Given the description of an element on the screen output the (x, y) to click on. 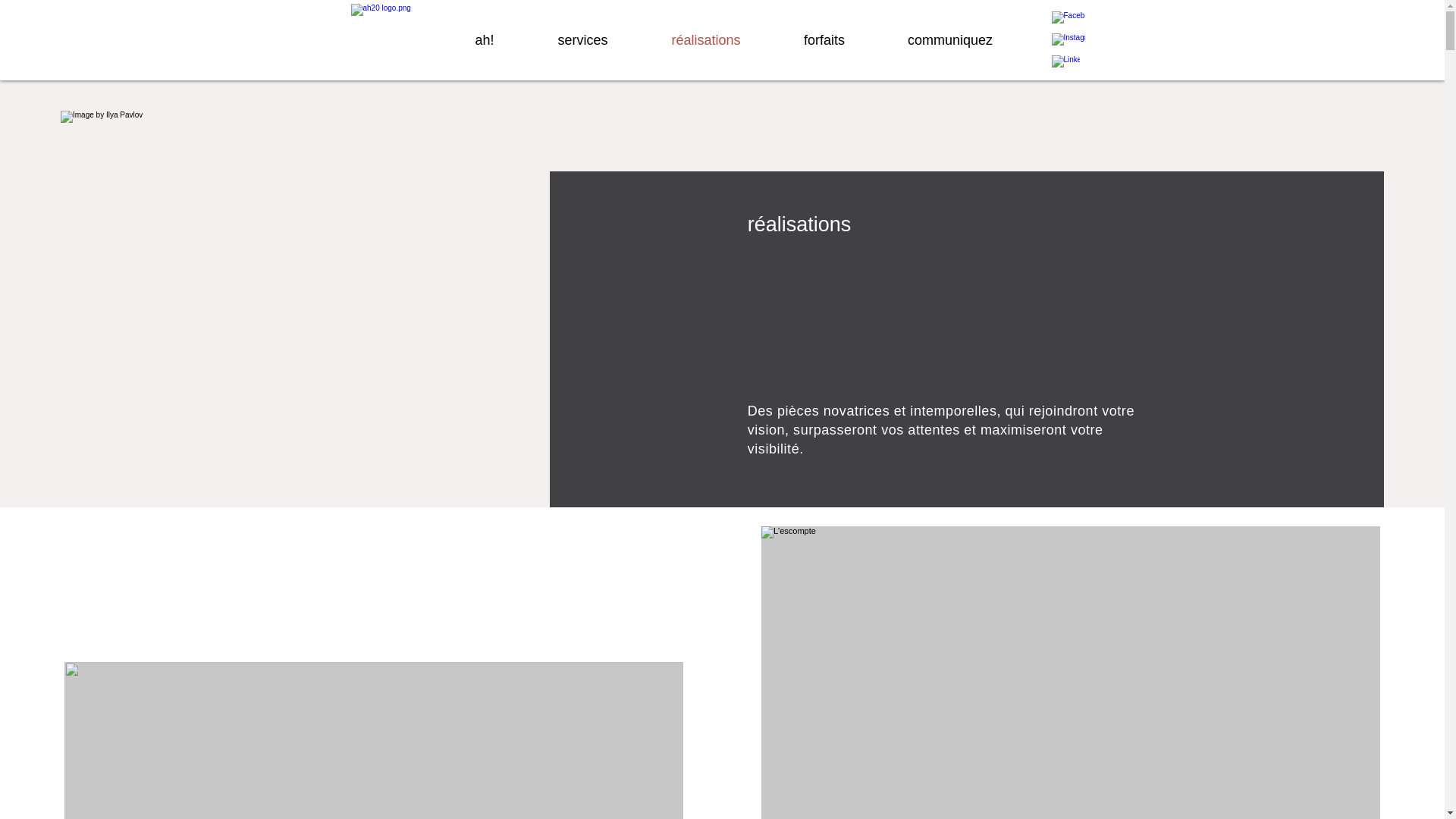
services Element type: text (583, 40)
forfaits Element type: text (823, 40)
ah! Element type: text (483, 40)
communiquez Element type: text (950, 40)
